Given the description of an element on the screen output the (x, y) to click on. 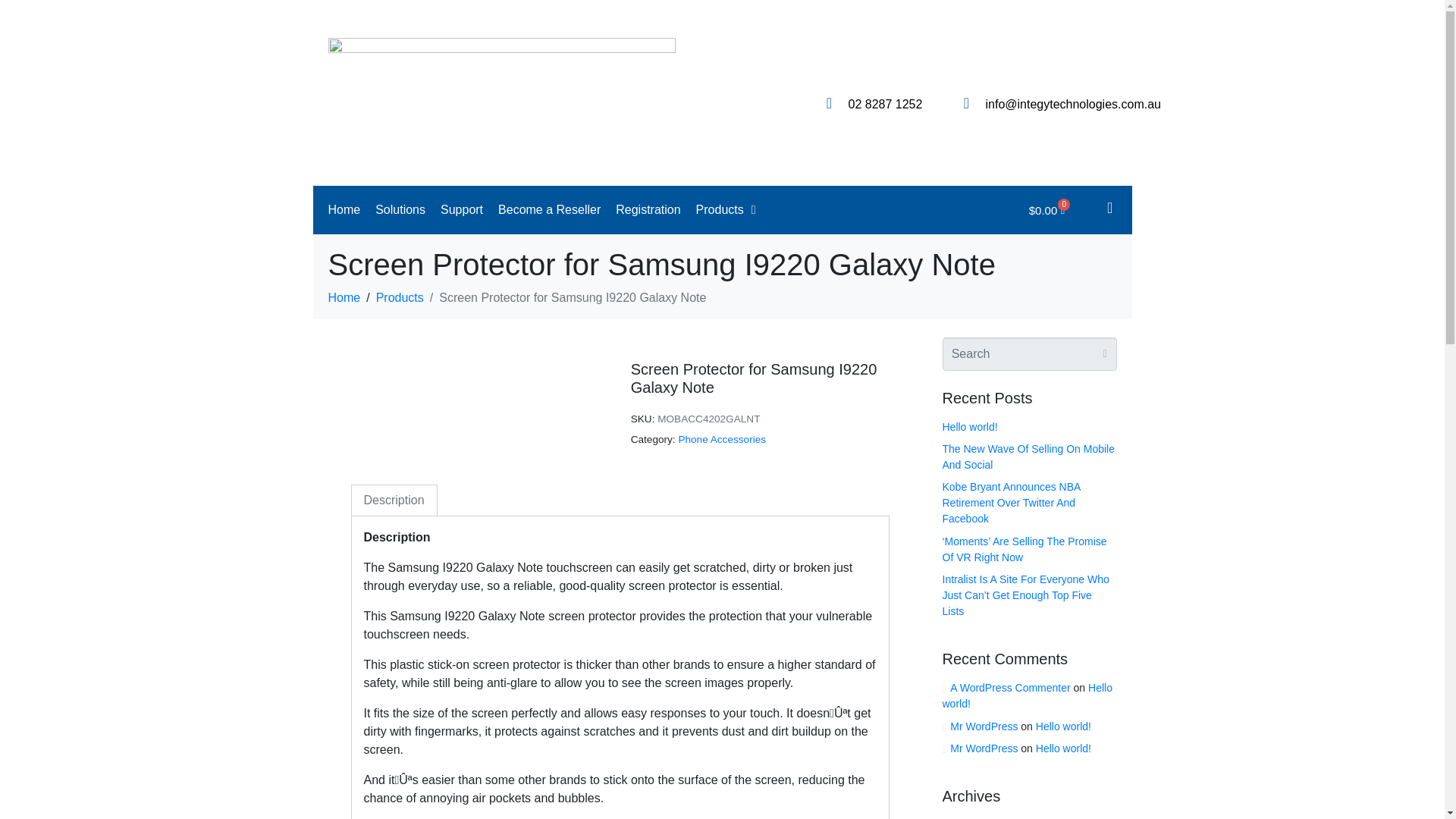
Products (399, 297)
Home (344, 209)
Become a Reseller (549, 209)
Phone Accessories (721, 439)
Solutions (400, 209)
Products (725, 209)
Home (343, 297)
Registration (647, 209)
Support (461, 209)
